Given the description of an element on the screen output the (x, y) to click on. 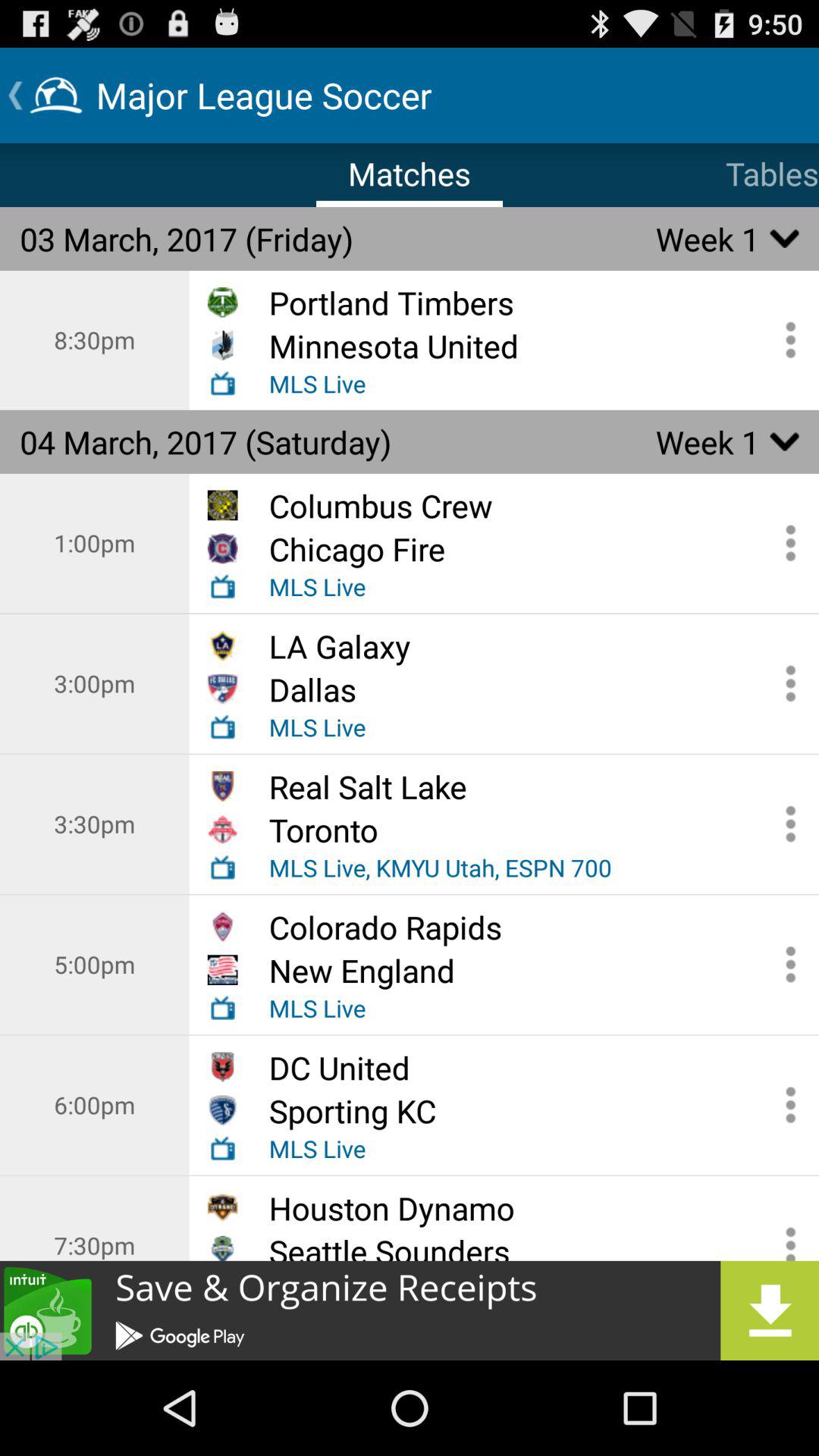
click on the third more button (785, 683)
click on the more button from top (785, 964)
click on down arrow in second table (784, 441)
click the radio icon below the toronto icon (222, 866)
select the radio icon which is  below the chicago fire icon (222, 586)
